Given the description of an element on the screen output the (x, y) to click on. 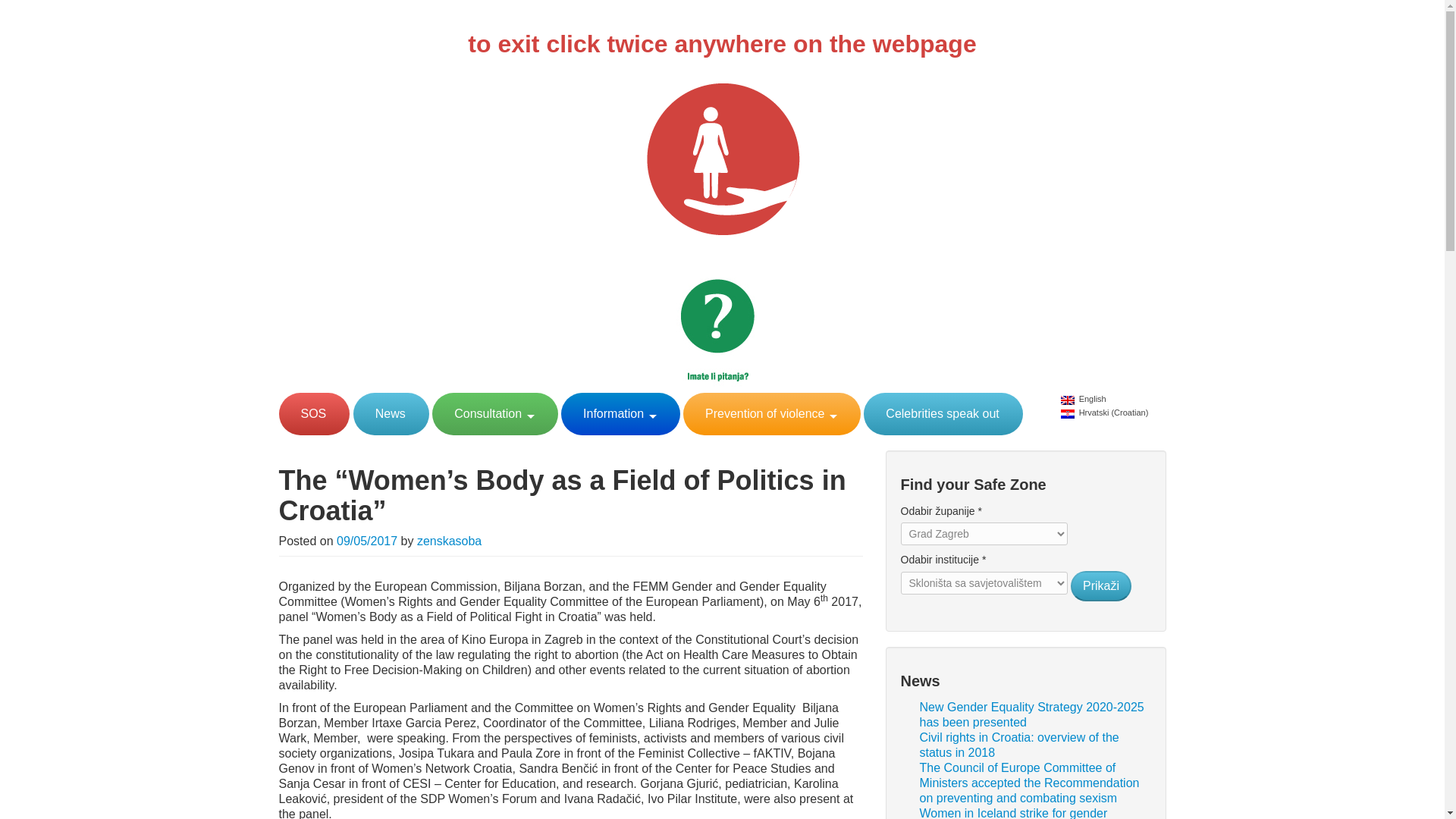
zenskasoba (448, 540)
News (390, 413)
Skip to secondary content (1100, 400)
Celebrities speak out against violence against women (942, 413)
SOS (313, 413)
Sigurno mjesto (721, 158)
Consultation (493, 413)
13:23 (366, 540)
Skip to primary content (1092, 400)
Information (619, 413)
